Given the description of an element on the screen output the (x, y) to click on. 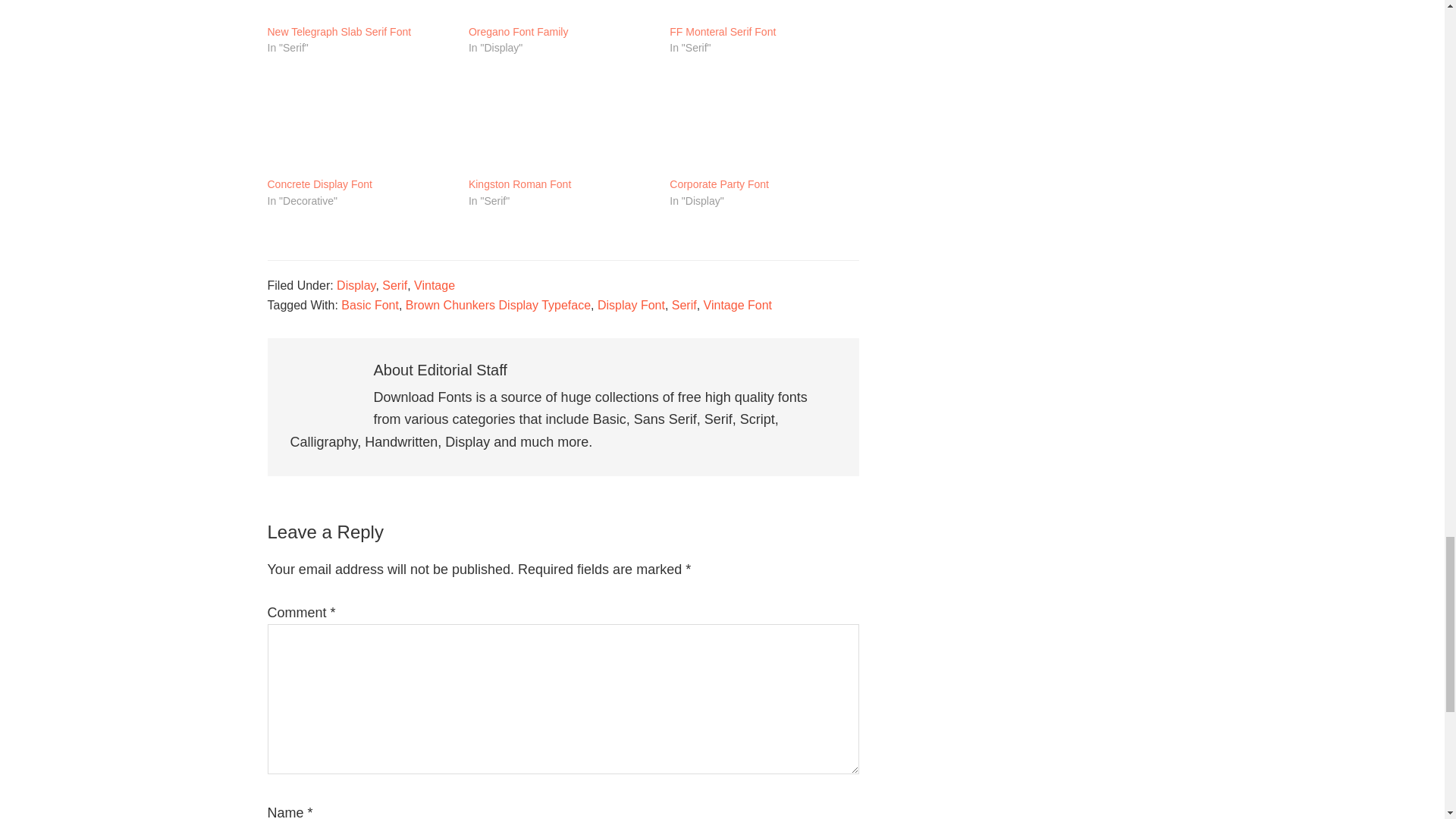
Vintage (433, 285)
FF Monteral Serif Font (722, 32)
Oregano Font Family (518, 32)
Concrete Display Font (319, 184)
Kingston Roman Font (560, 122)
Basic Font (369, 305)
New Telegraph Slab Serif Font (338, 32)
Brown Chunkers Display Typeface (498, 305)
FF Monteral Serif Font (762, 11)
Display (355, 285)
Kingston Roman Font (519, 184)
New Telegraph Slab Serif Font (359, 11)
Oregano Font Family (560, 11)
Corporate Party Font (718, 184)
Corporate Party Font (762, 122)
